Given the description of an element on the screen output the (x, y) to click on. 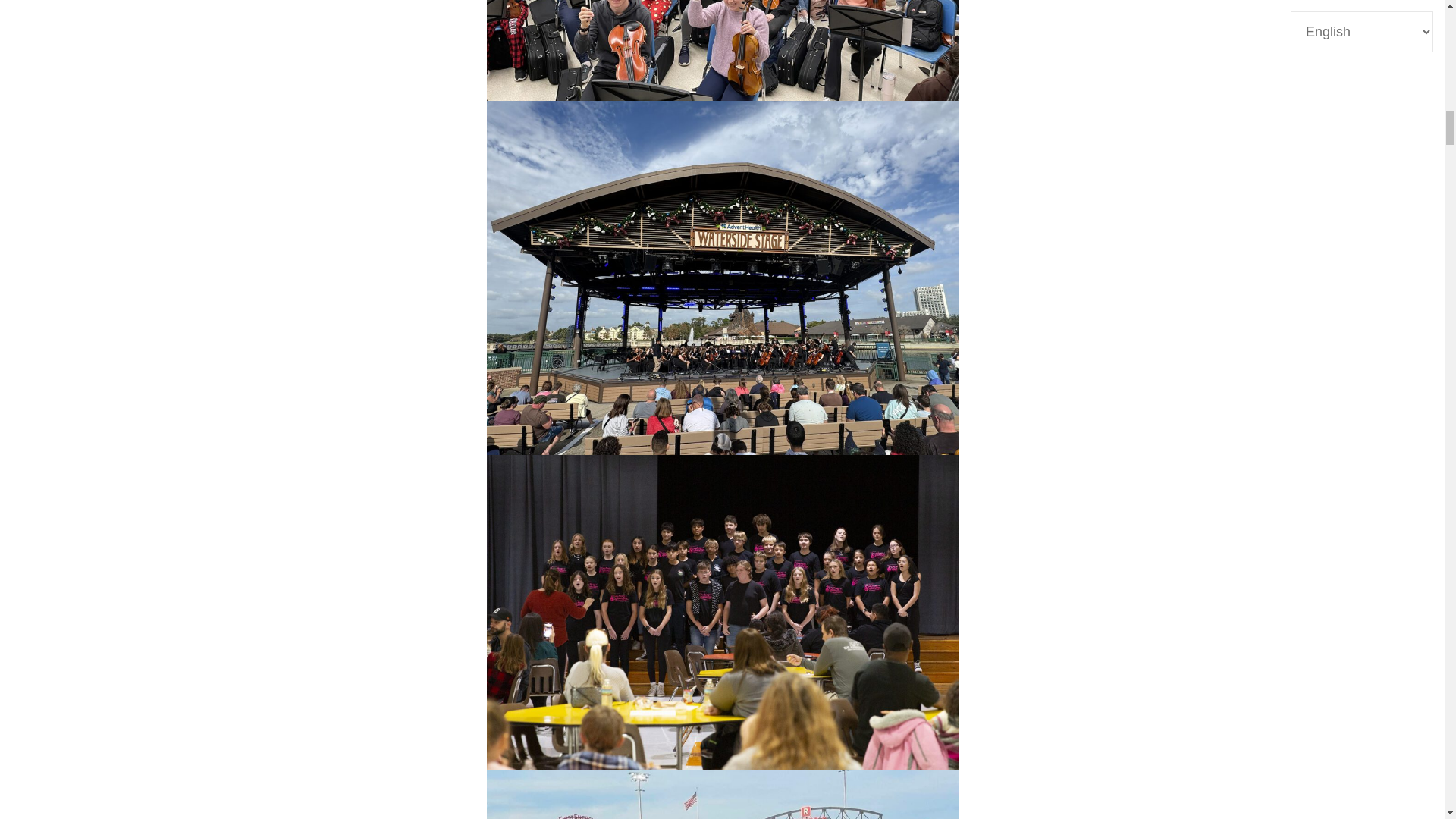
CombinedDisneyOrchestra2023B (722, 50)
